Given the description of an element on the screen output the (x, y) to click on. 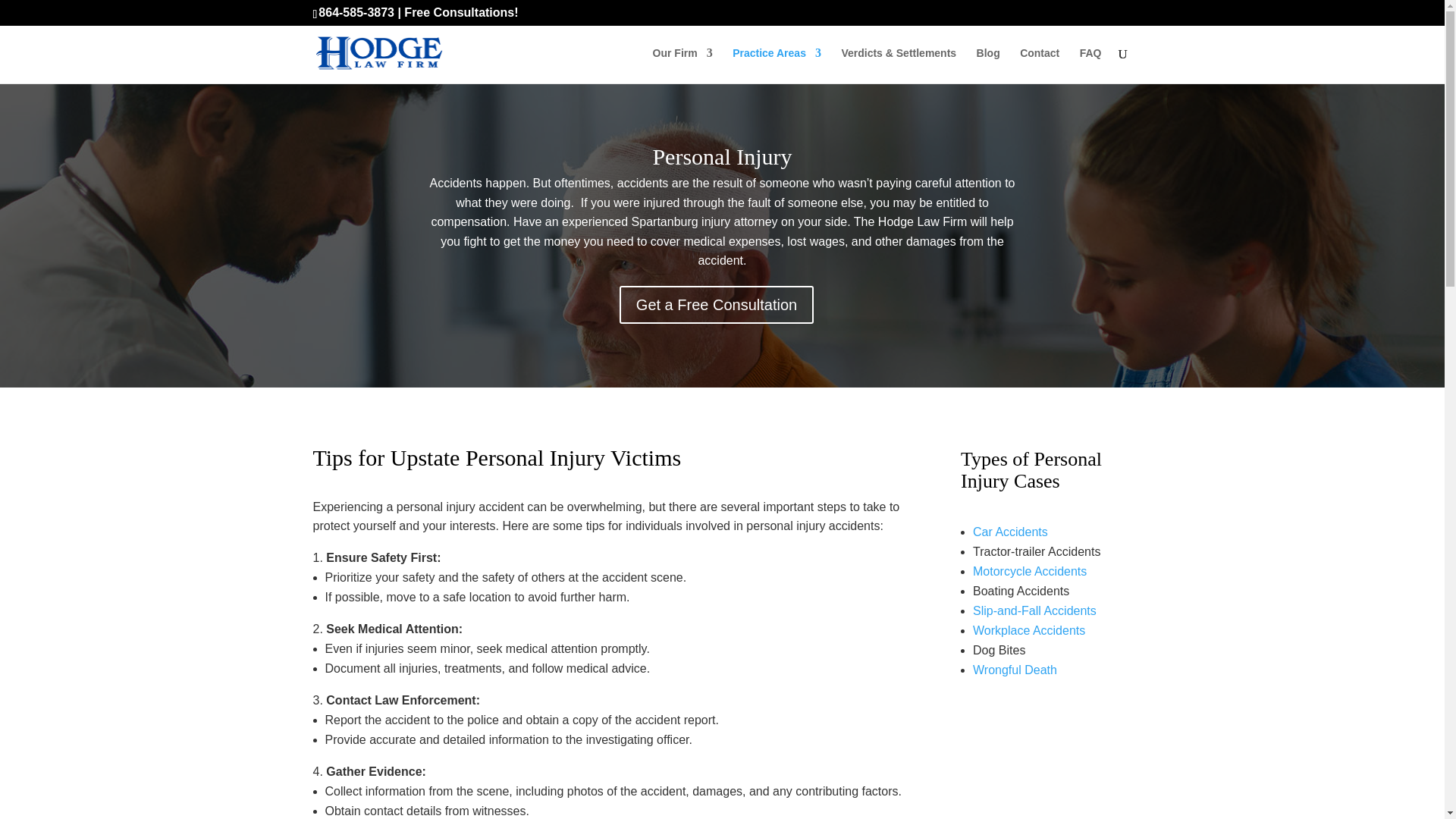
Car Accidents (1010, 531)
Workplace Accidents (1028, 630)
Get a Free Consultation (716, 304)
Motorcycle Accidents (1029, 571)
Spartanburg Greenville car accident attorney (1010, 531)
Spartanburg Greenville workers compensation attorney (1028, 630)
Spartanburg Greenville motorcycle accident attorney (1029, 571)
Our Firm (682, 65)
Contact (1039, 65)
Slip-and-Fall Accidents (1034, 610)
Spartanburg Greenville Wrongful Death attorney (1014, 669)
Spartanburg Greenville slip and fall attorney (1034, 610)
Wrongful Death (1014, 669)
Practice Areas (776, 65)
